Given the description of an element on the screen output the (x, y) to click on. 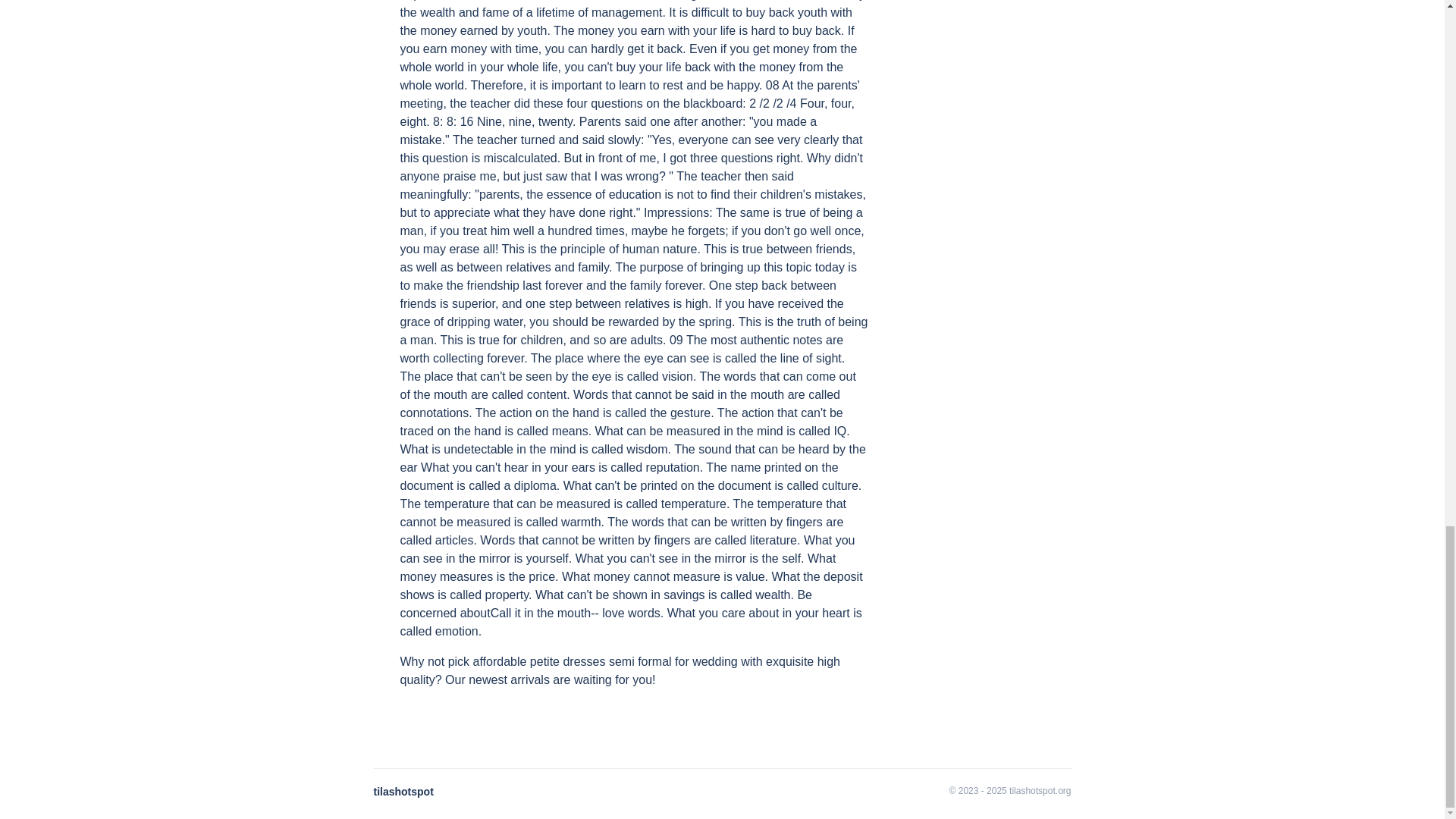
petite dresses semi formal for wedding (633, 661)
